Given the description of an element on the screen output the (x, y) to click on. 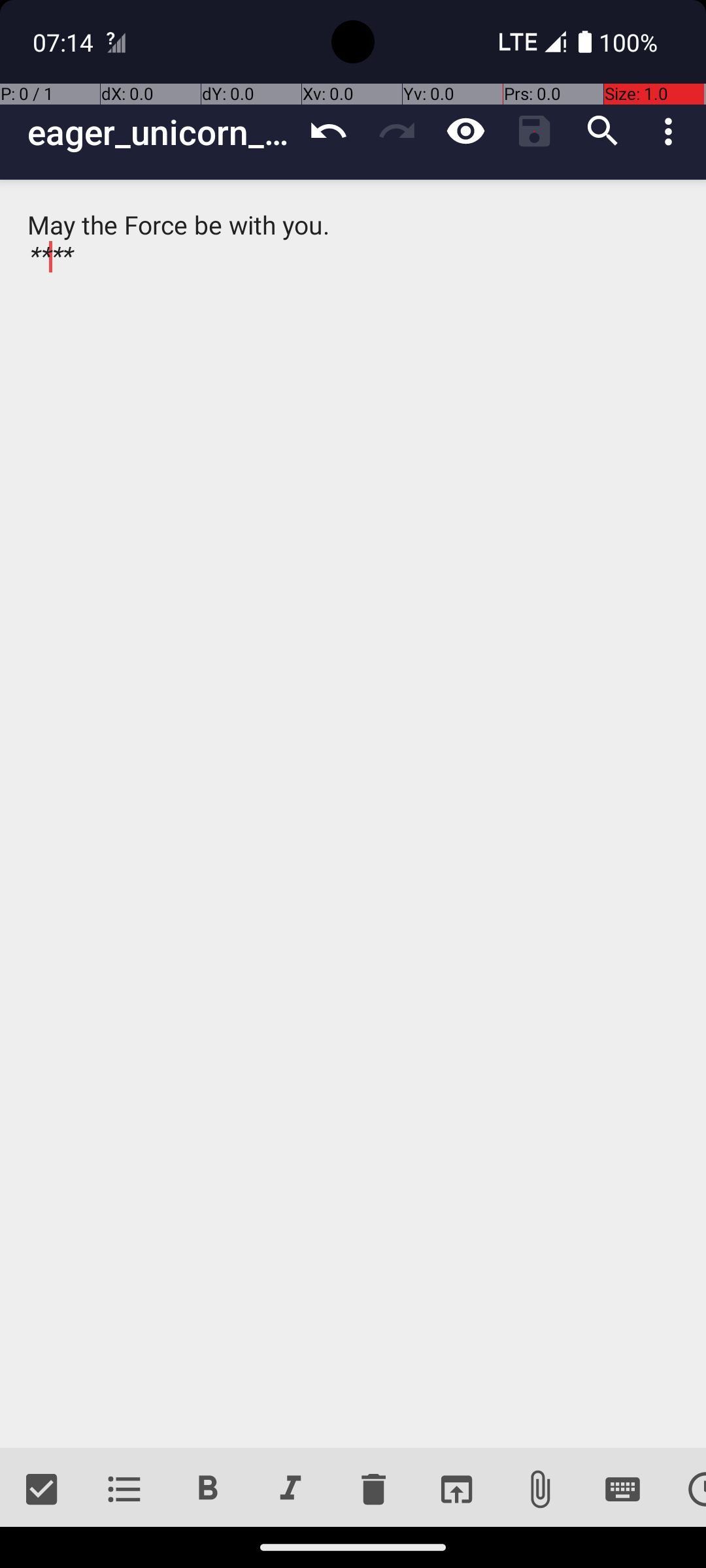
eager_unicorn_final Element type: android.widget.TextView (160, 131)
May the Force be with you.
**** Element type: android.widget.EditText (353, 813)
07:14 Element type: android.widget.TextView (64, 41)
